Given the description of an element on the screen output the (x, y) to click on. 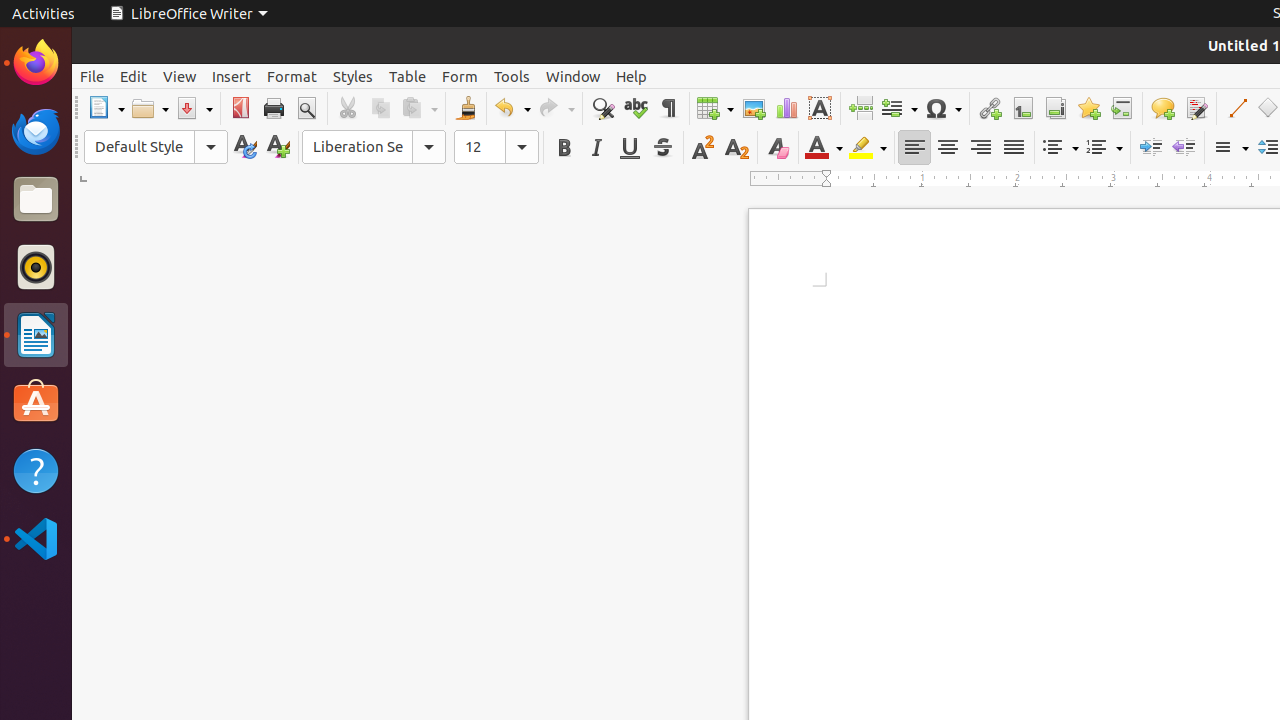
Paste Element type: push-button (419, 108)
Visual Studio Code Element type: push-button (36, 538)
Font Name Element type: combo-box (374, 147)
Endnote Element type: push-button (1055, 108)
Undo Element type: push-button (512, 108)
